Given the description of an element on the screen output the (x, y) to click on. 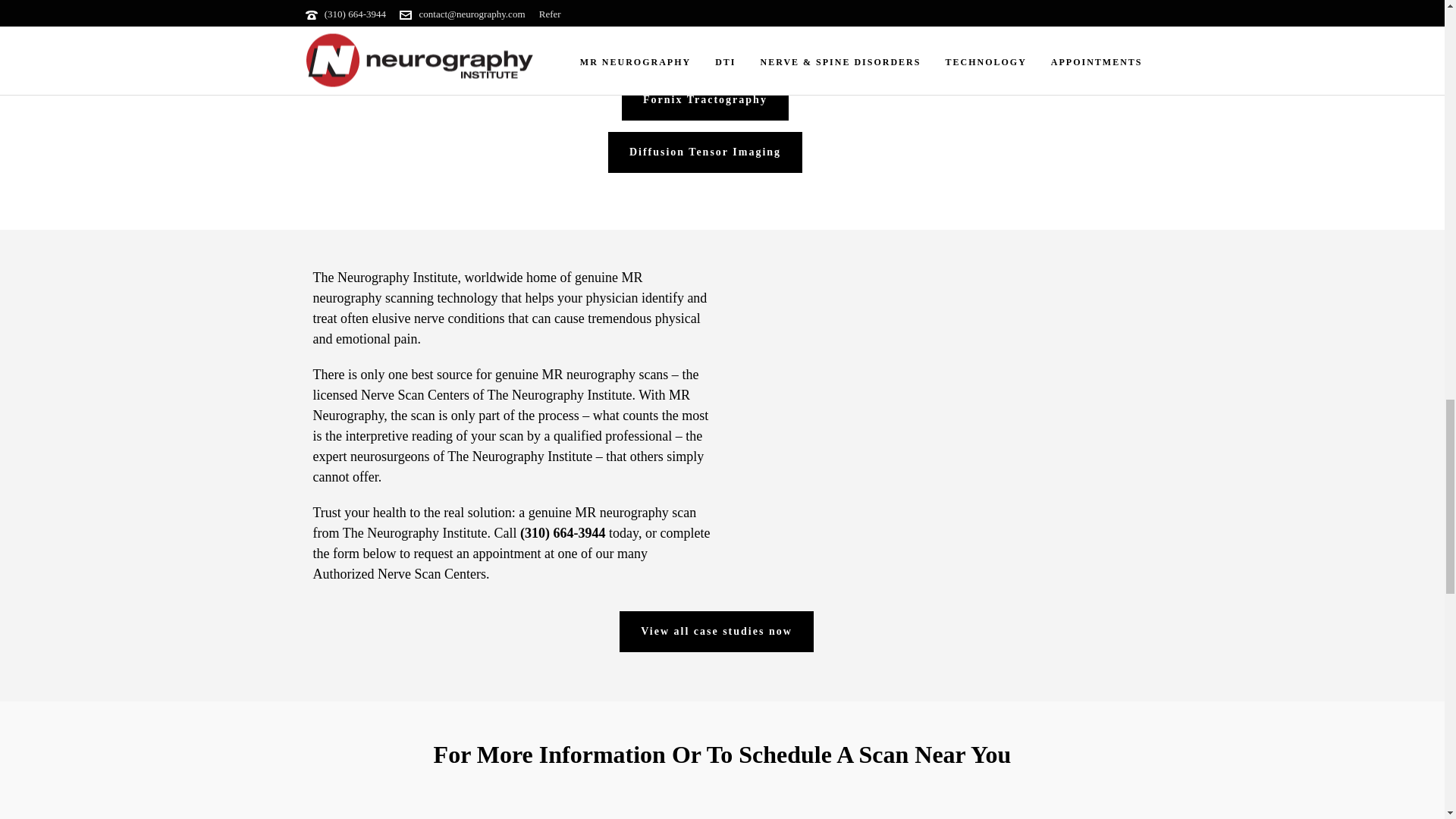
Fornix Tractography (705, 99)
Diffusion Tensor Imaging (705, 151)
View all case studies now (716, 630)
